Given the description of an element on the screen output the (x, y) to click on. 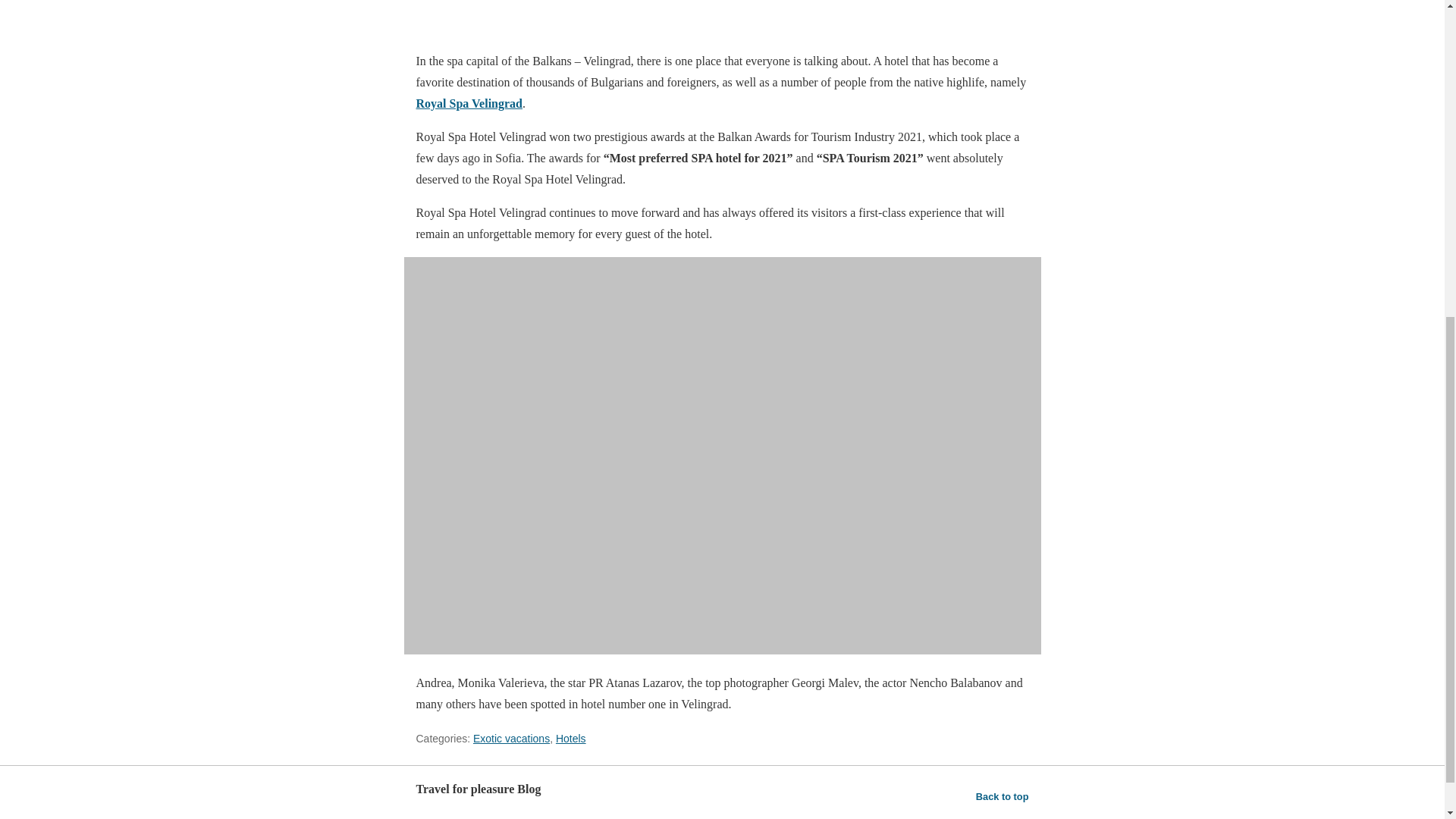
Royal Spa Velingrad (467, 103)
Exotic vacations (511, 738)
Back to top (1002, 796)
Hotels (571, 738)
